Given the description of an element on the screen output the (x, y) to click on. 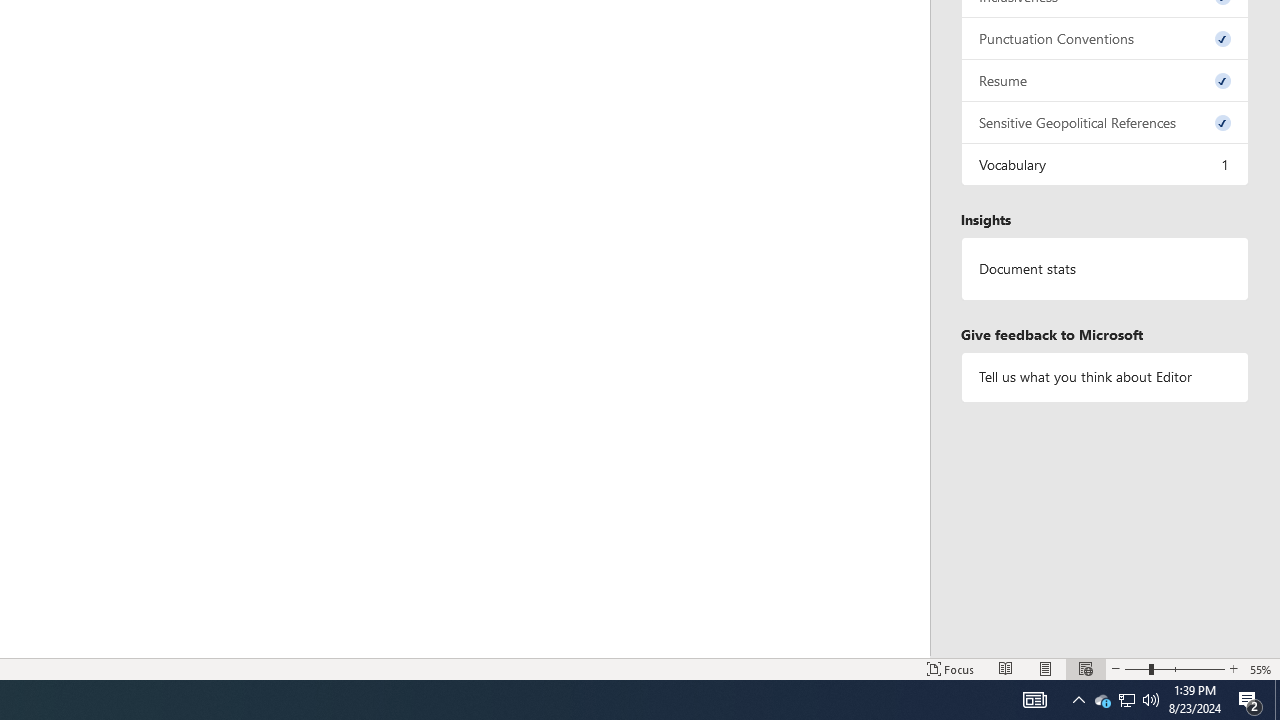
Tell us what you think about Editor (1105, 376)
Document statistics (1105, 269)
Vocabulary, 1 issue. Press space or enter to review items. (1105, 164)
Resume, 0 issues. Press space or enter to review items. (1105, 79)
Zoom 55% (1261, 668)
